Given the description of an element on the screen output the (x, y) to click on. 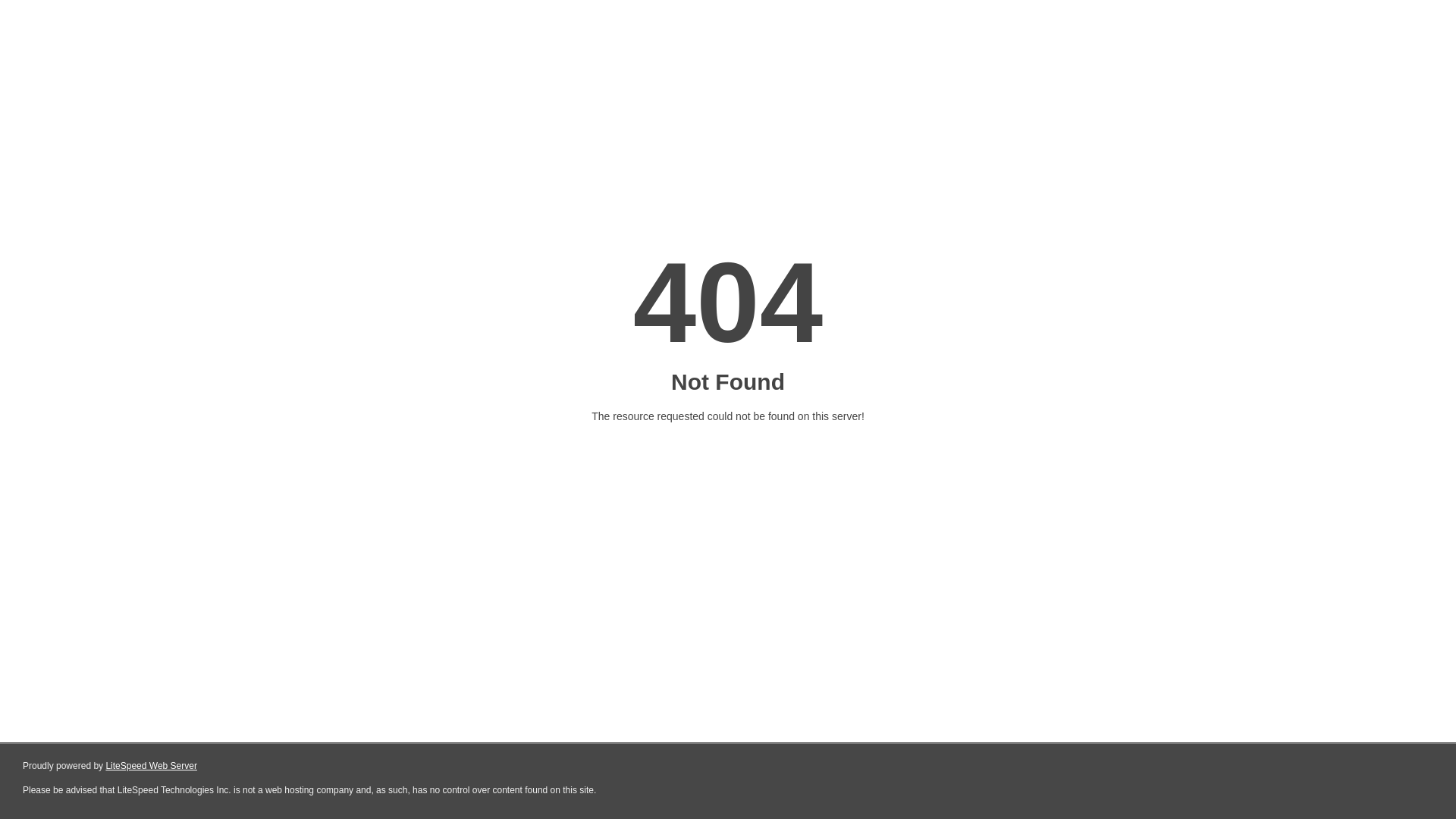
LiteSpeed Web Server Element type: text (151, 765)
